Given the description of an element on the screen output the (x, y) to click on. 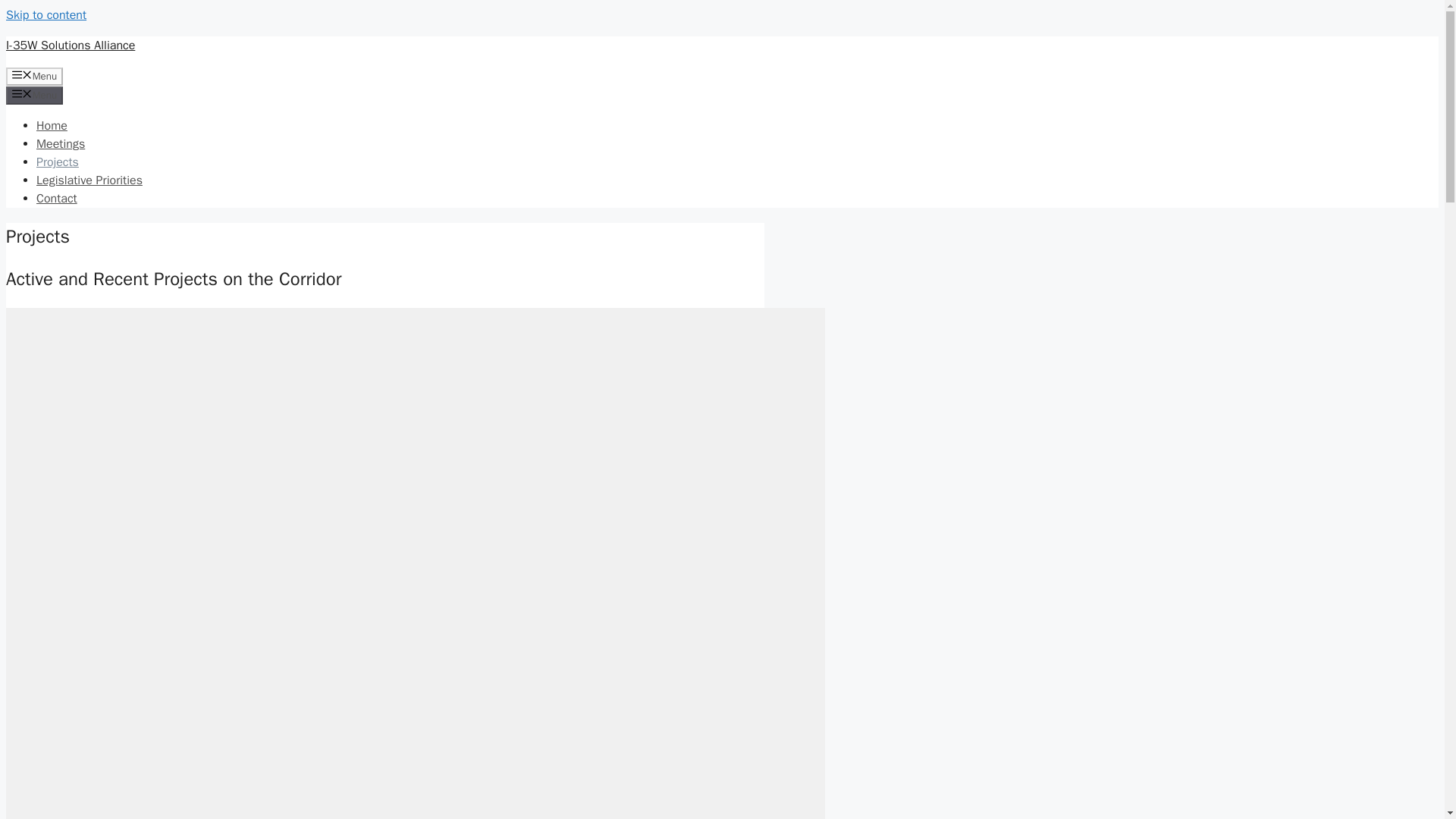
Meetings (60, 143)
Projects (57, 161)
I-35W Solutions Alliance (70, 45)
Legislative Priorities (89, 180)
Contact (56, 198)
Menu (33, 95)
Home (51, 125)
Menu (33, 76)
Skip to content (45, 14)
Skip to content (45, 14)
